Given the description of an element on the screen output the (x, y) to click on. 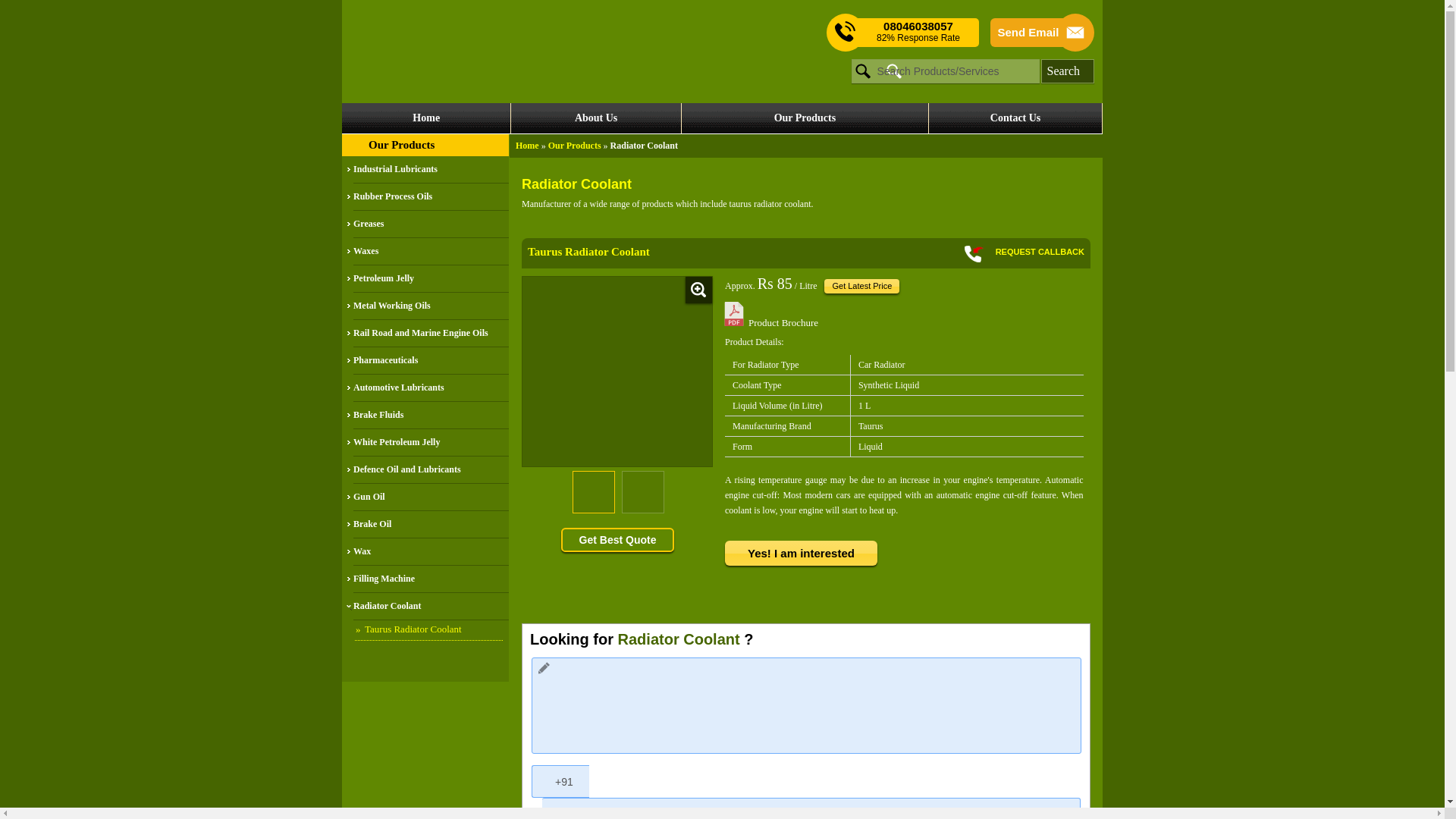
Home (426, 118)
Our Products (574, 145)
About Us (595, 118)
Enter your number: (810, 808)
Home (526, 145)
Contact Us (1015, 118)
Our Products (400, 144)
Send SMS Free (917, 32)
Our Products (804, 118)
Waxes (430, 251)
